Given the description of an element on the screen output the (x, y) to click on. 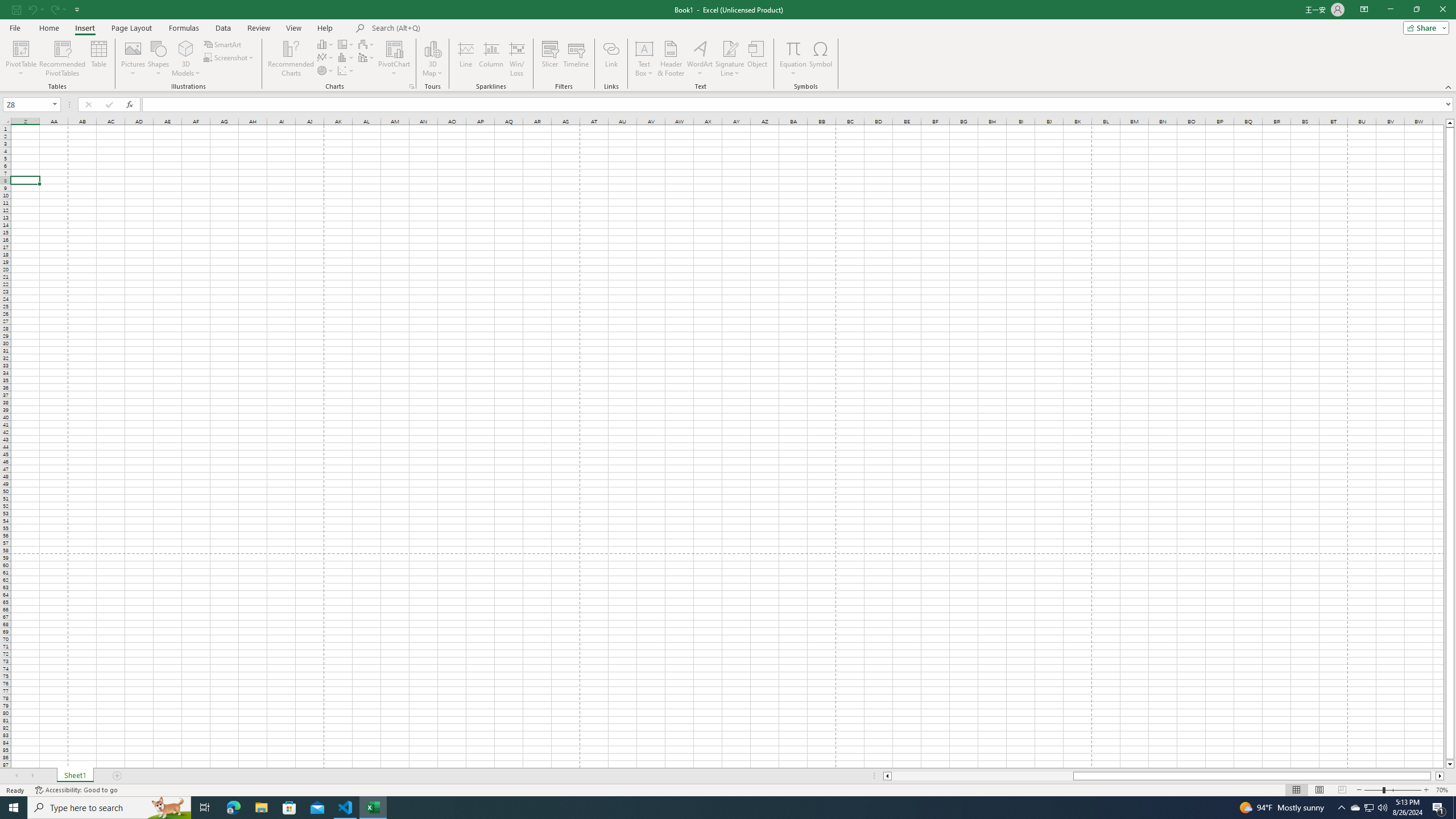
Recommended PivotTables (62, 58)
Line (465, 58)
Table (98, 58)
Screenshot (229, 56)
Insert Waterfall, Funnel, Stock, Surface, or Radar Chart (366, 44)
